Given the description of an element on the screen output the (x, y) to click on. 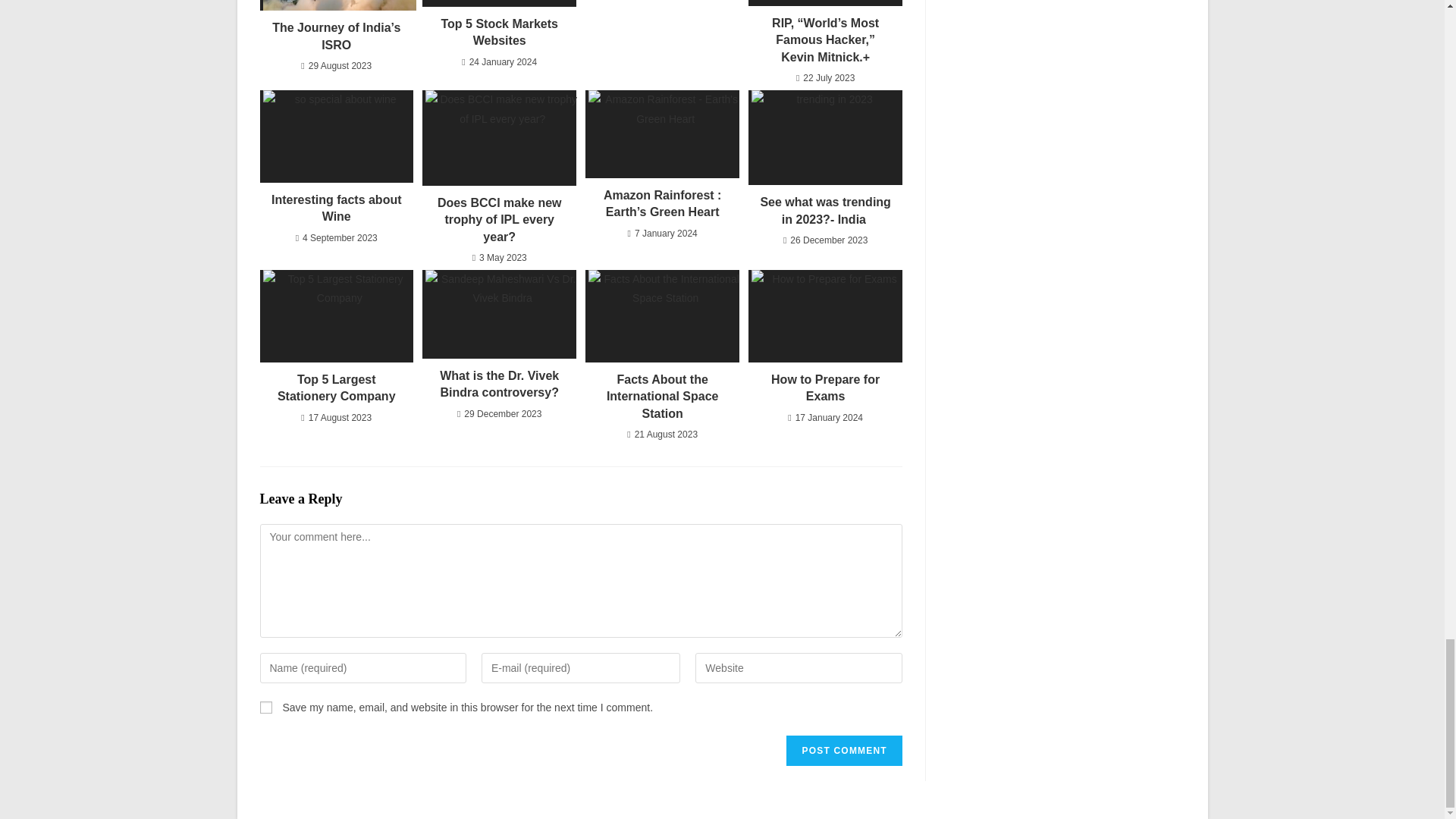
yes (264, 707)
Post Comment (843, 750)
Top 5 Stock Markets Websites (498, 32)
